Given the description of an element on the screen output the (x, y) to click on. 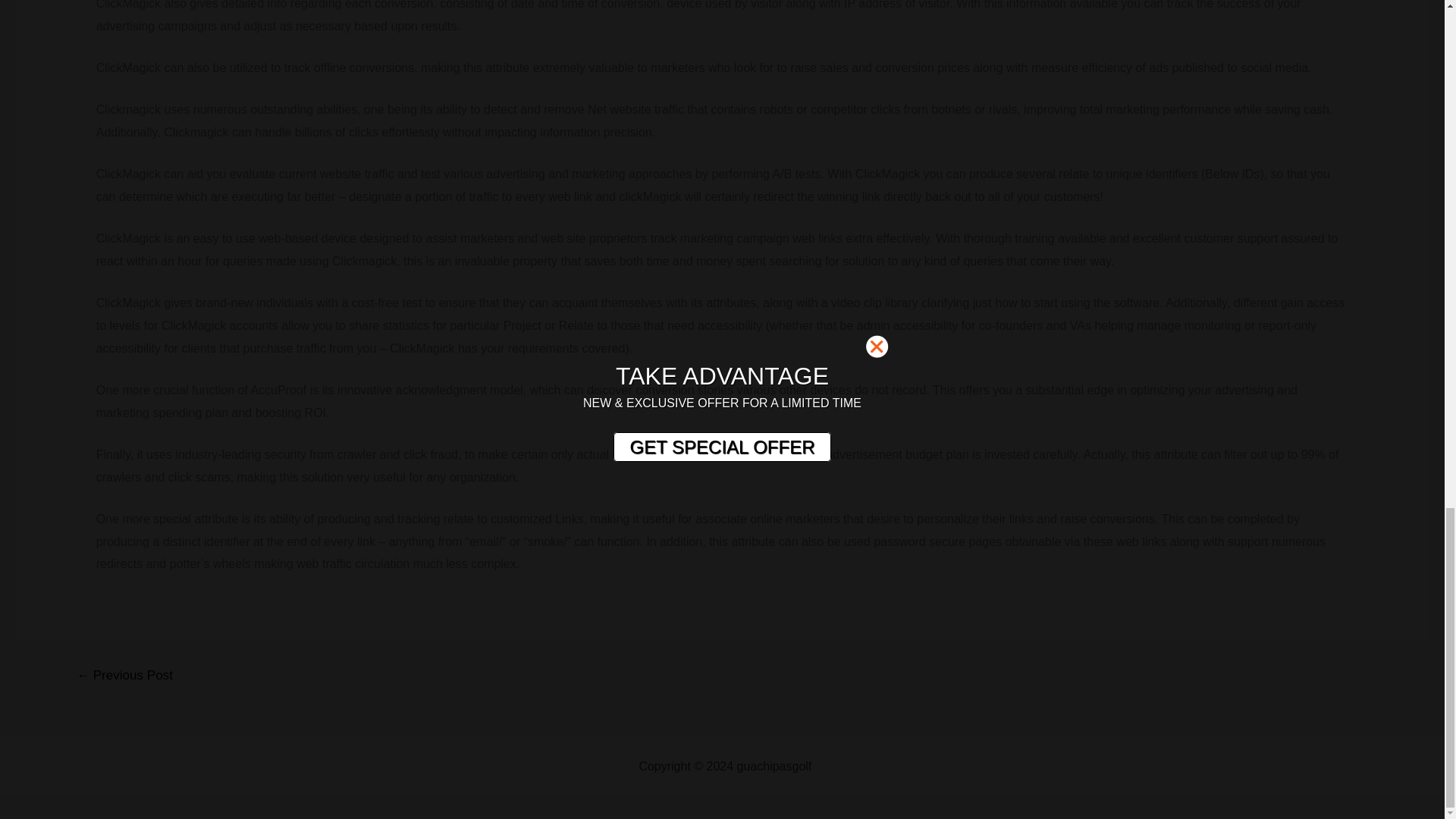
Sitemap (837, 766)
